Given the description of an element on the screen output the (x, y) to click on. 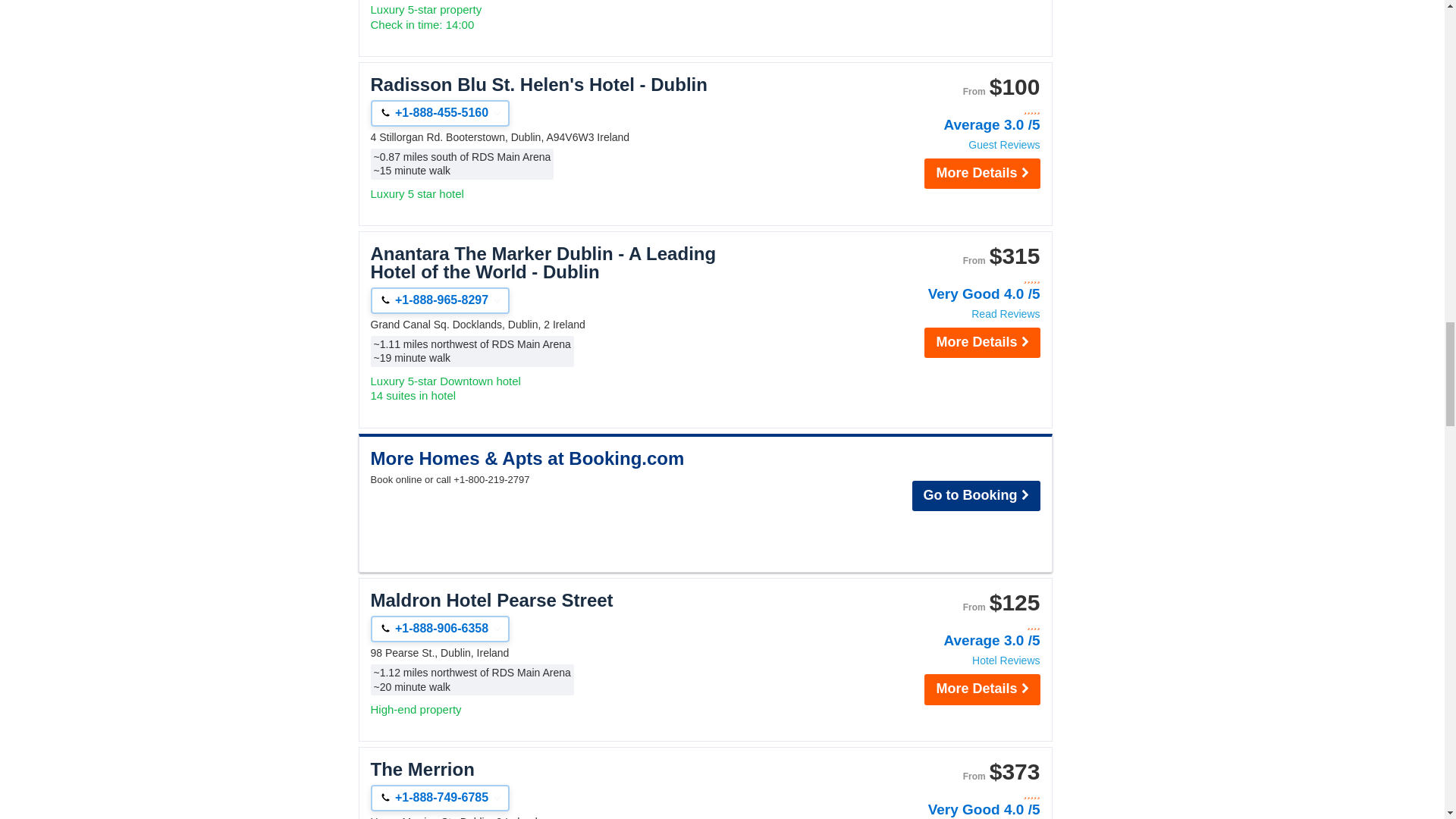
5 stars (958, 793)
5 stars (958, 109)
4 stars (958, 625)
5 stars (958, 278)
